Given the description of an element on the screen output the (x, y) to click on. 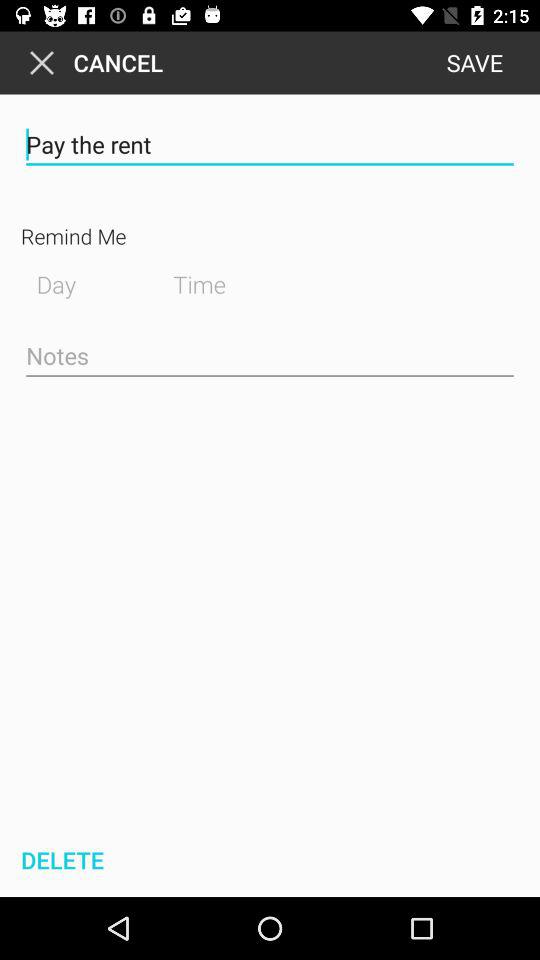
launch item to the right of day (215, 281)
